Given the description of an element on the screen output the (x, y) to click on. 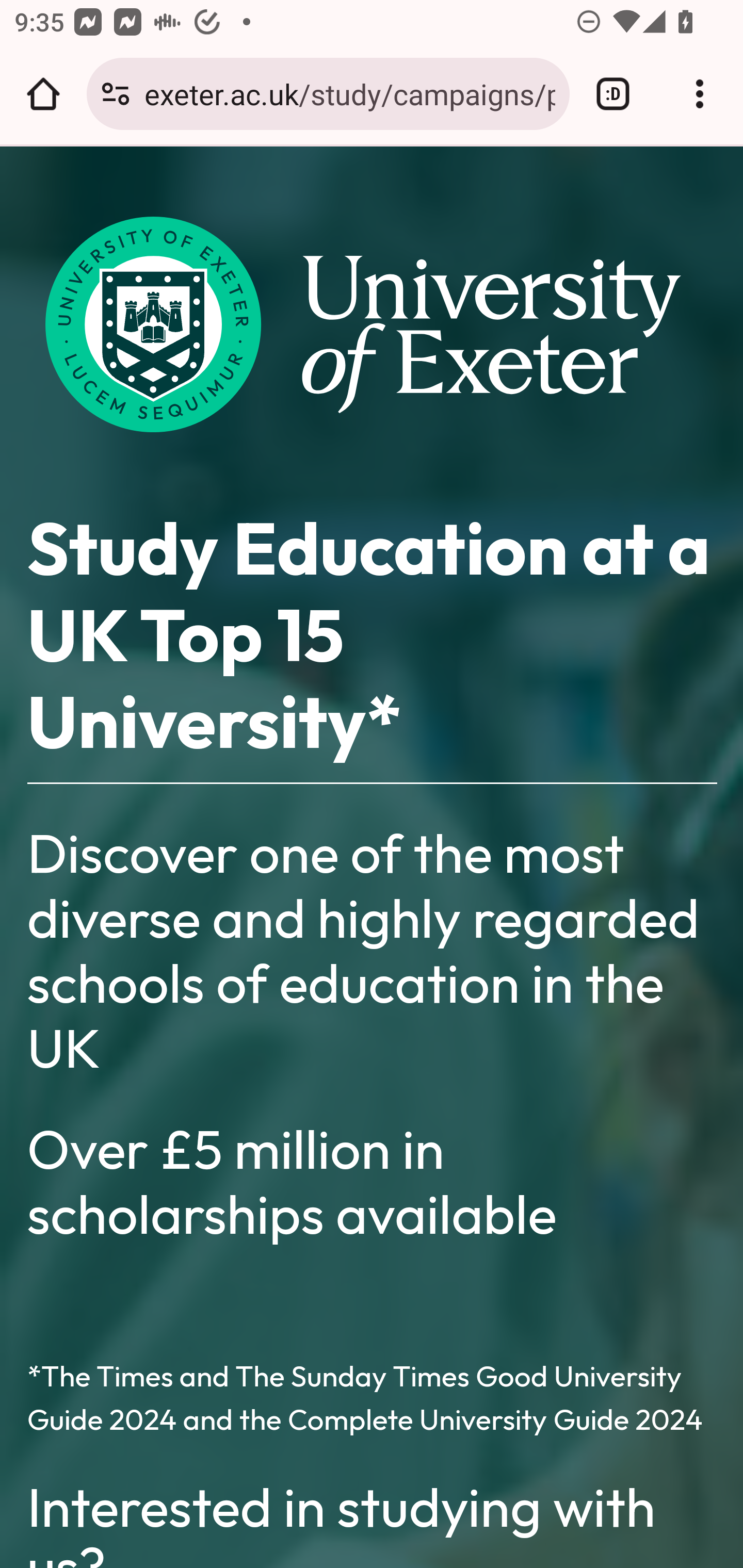
Open the home page (43, 93)
Connection is secure (115, 93)
Switch or close tabs (612, 93)
Customize and control Google Chrome (699, 93)
